Given the description of an element on the screen output the (x, y) to click on. 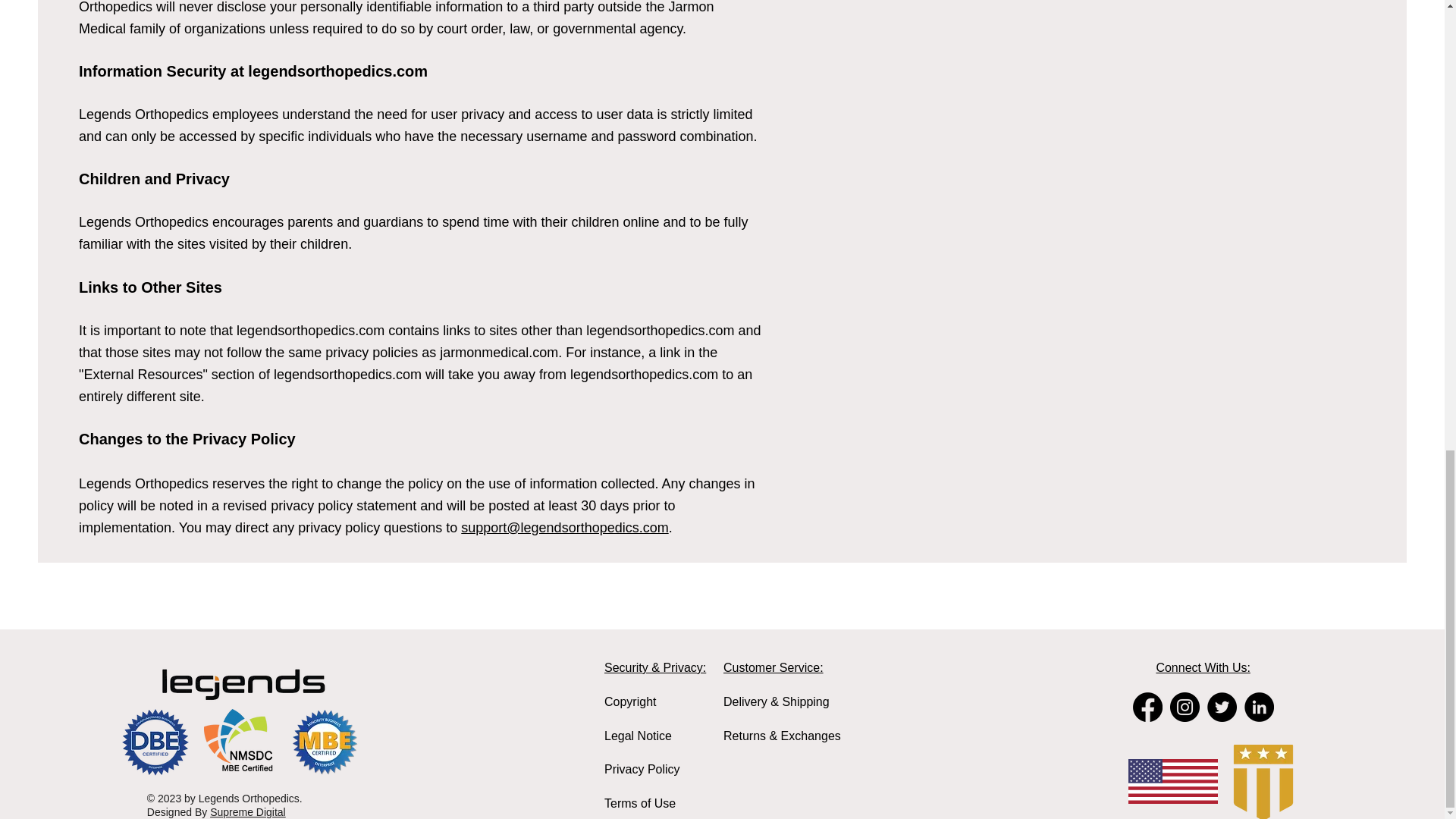
DBE-Certified.webp (155, 742)
Terms of Use (639, 802)
Copyright (630, 701)
Privacy Policy (641, 768)
Supreme Digital (247, 811)
Legal Notice (637, 735)
